Given the description of an element on the screen output the (x, y) to click on. 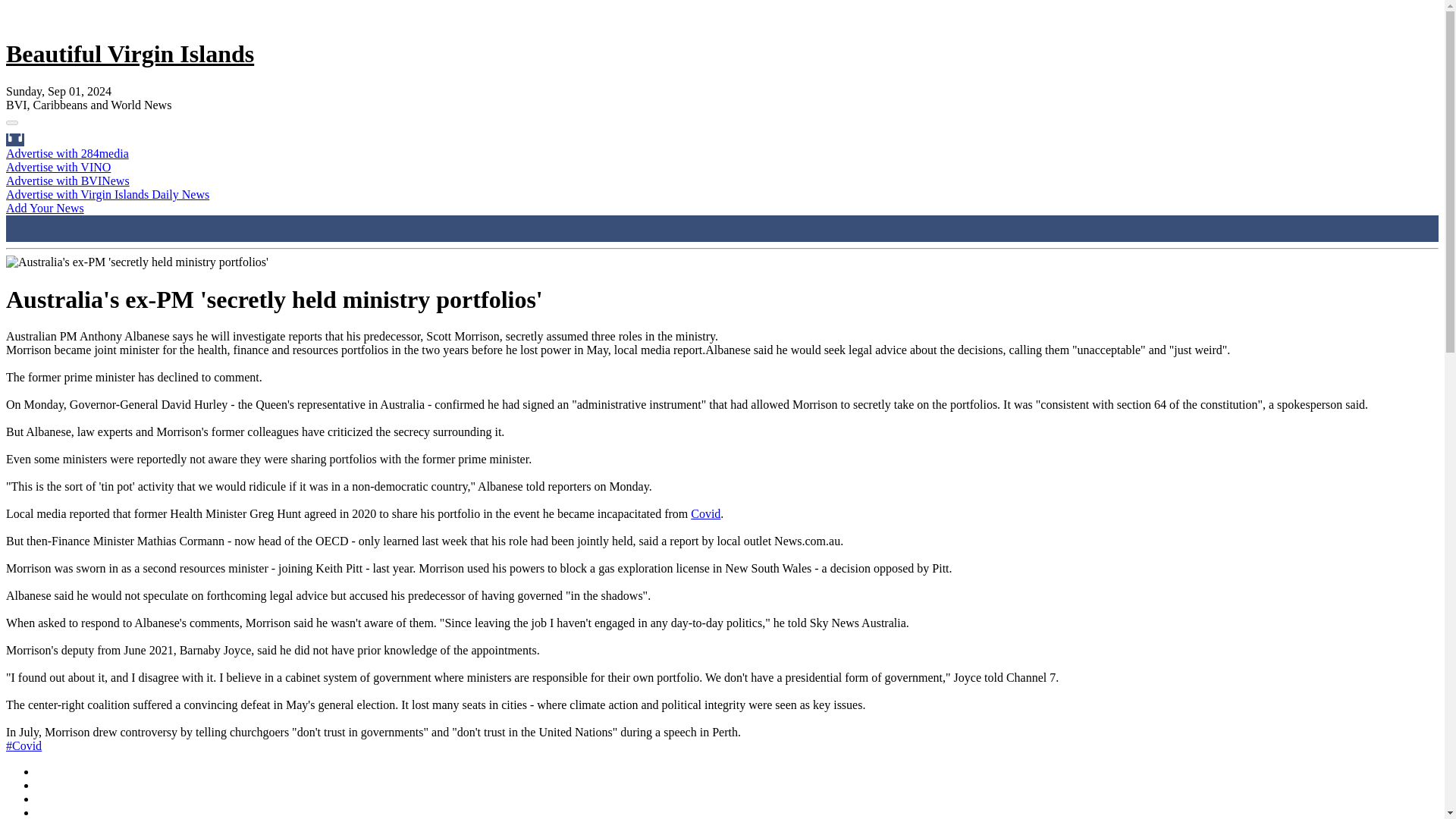
Advertise with BVINews (67, 180)
Advertise with Virgin Islands Daily News (107, 194)
Beautiful Virgin Islands (129, 53)
Covid (705, 513)
Advertise with 284media (67, 153)
Add Your News (44, 207)
Advertise with VINO (57, 166)
